Given the description of an element on the screen output the (x, y) to click on. 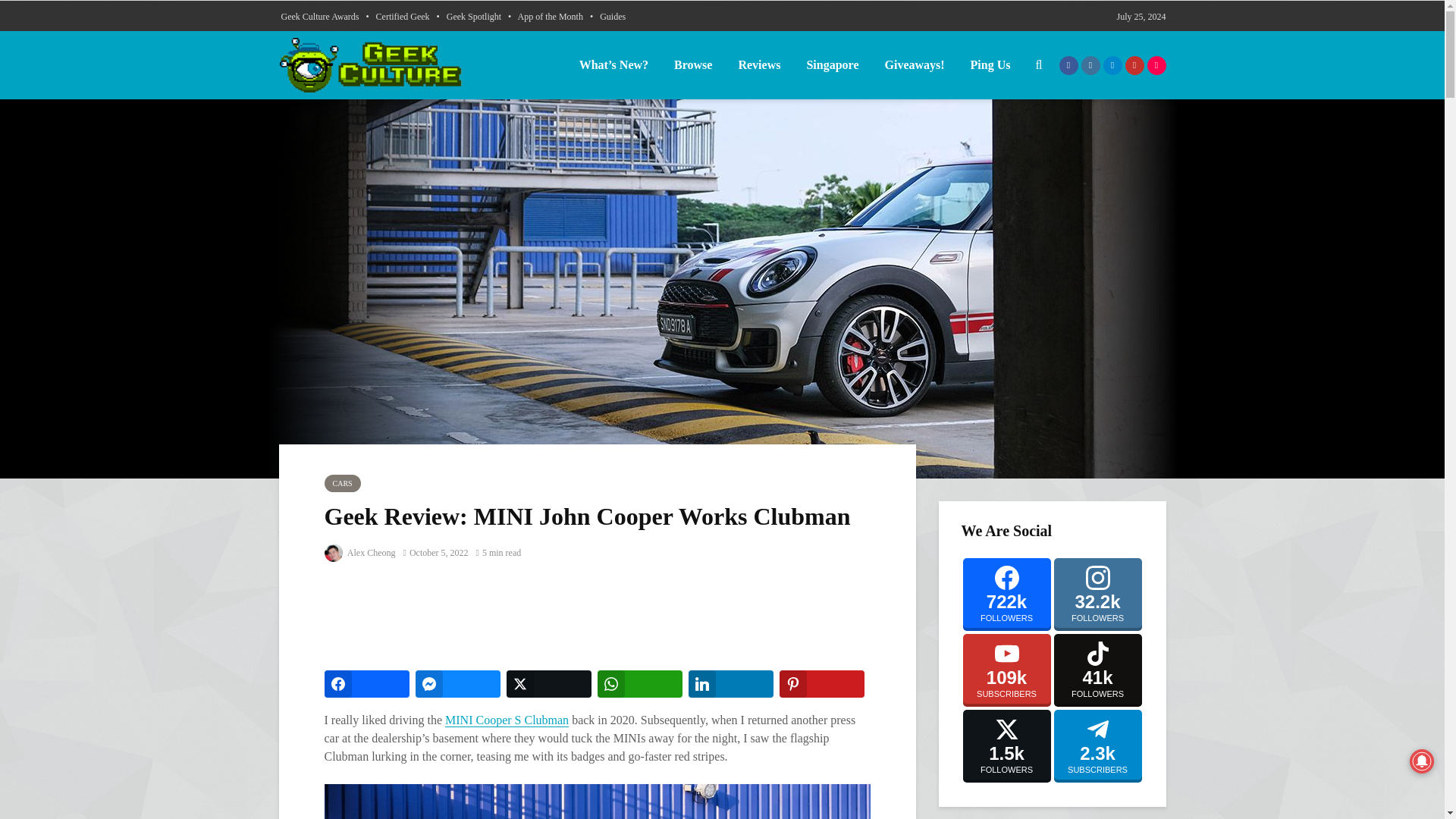
Share on LinkedIn (730, 683)
Ping Us (990, 64)
Advertisement (600, 617)
Singapore (831, 64)
Giveaways! (913, 64)
Reviews (759, 64)
Share on Twitter (548, 683)
Share on Pinterest (821, 683)
Browse (692, 64)
Share on Facebook (366, 683)
Share on Facebook Messenger (457, 683)
Geek Culture Awards (319, 15)
Share on WhatsApp (639, 683)
